Given the description of an element on the screen output the (x, y) to click on. 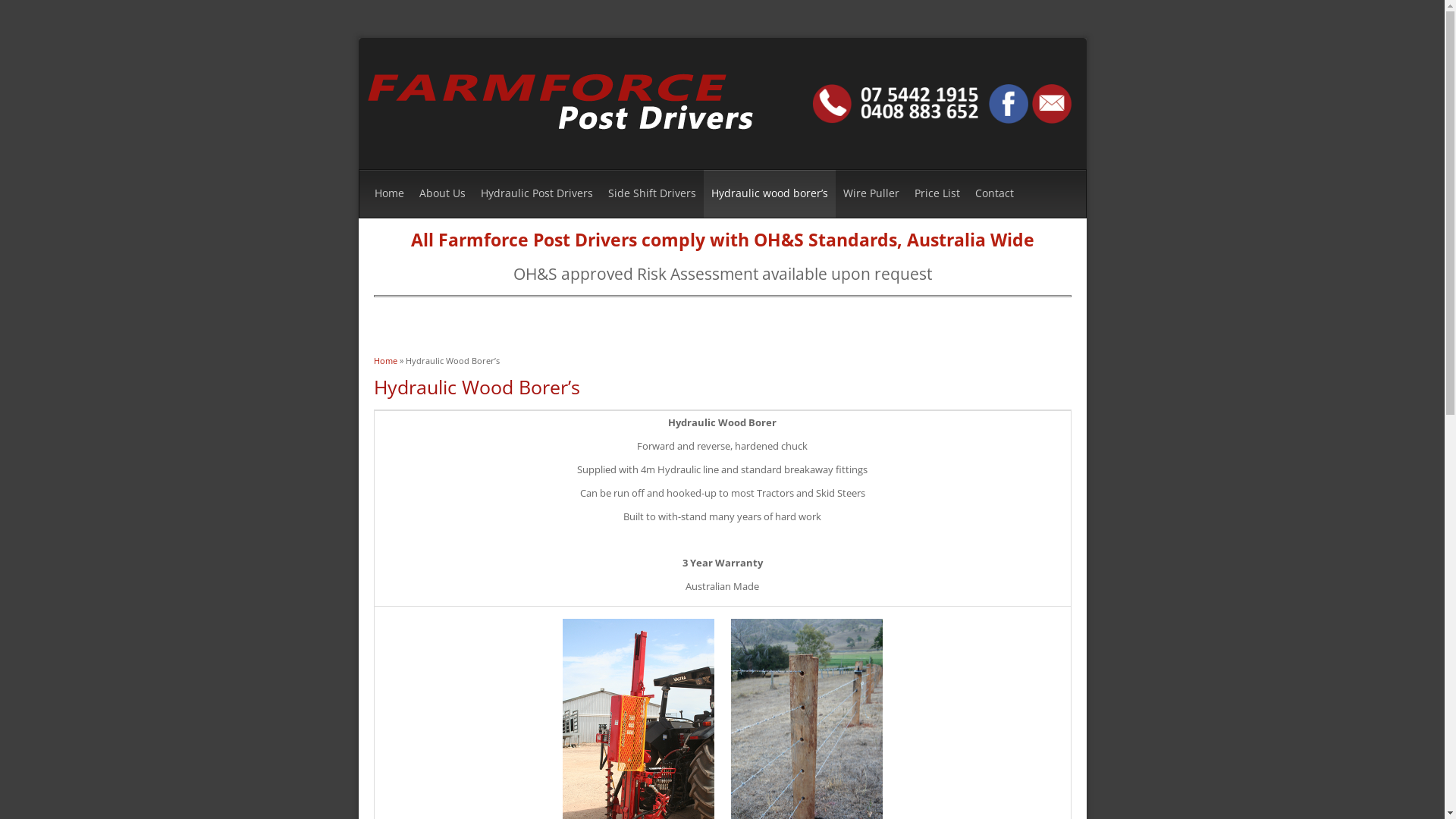
Contact Element type: text (994, 193)
Home Element type: text (384, 360)
Side Shift Drivers Element type: text (651, 193)
Home Element type: hover (561, 145)
Home Element type: text (389, 193)
Price List Element type: text (936, 193)
Wire Puller Element type: text (870, 193)
About Us Element type: text (441, 193)
Hydraulic Post Drivers Element type: text (536, 193)
